Given the description of an element on the screen output the (x, y) to click on. 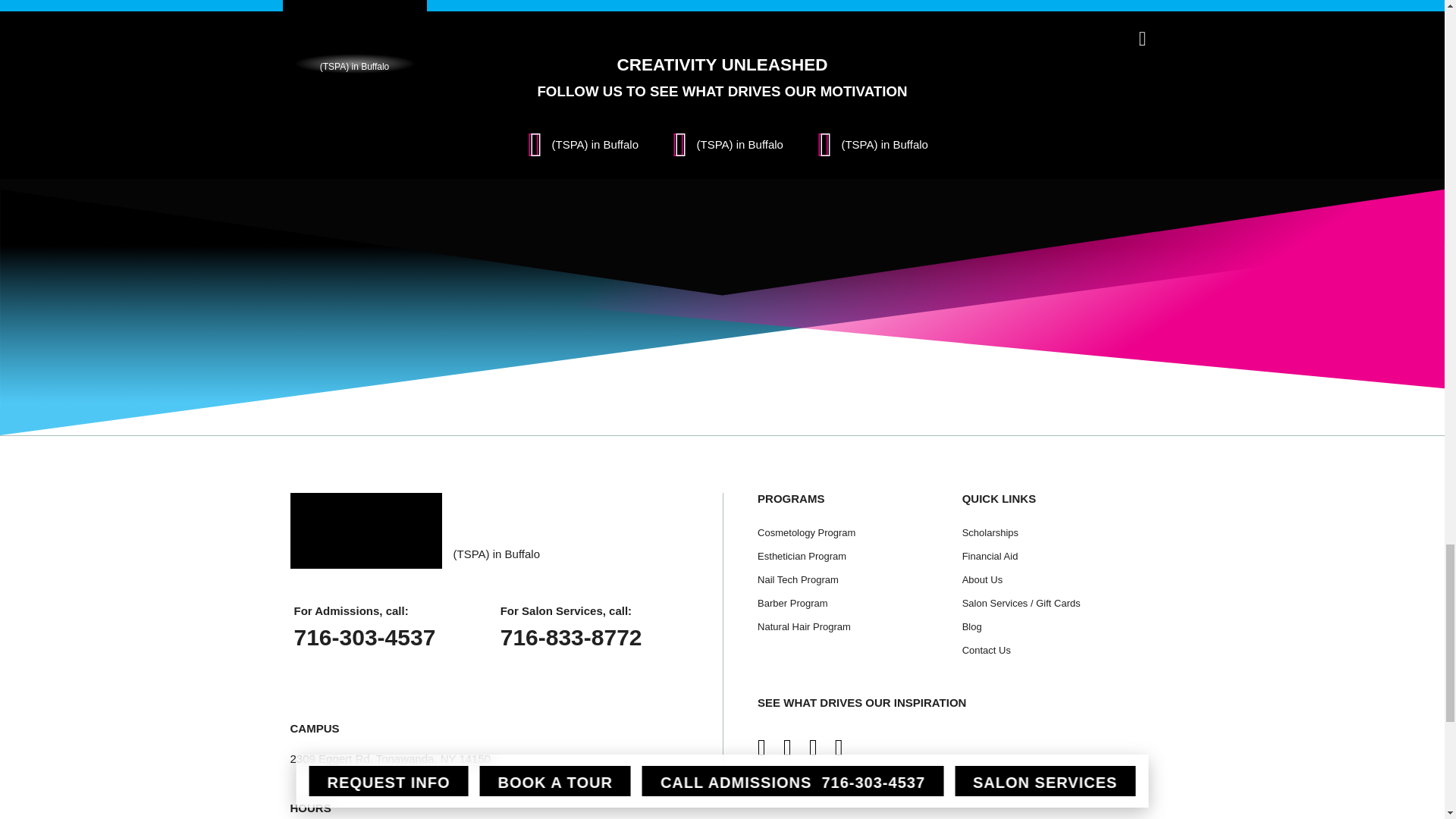
tspa social link - tiktok (867, 144)
tspa social link - facebook (722, 144)
tspa social link - instagram (577, 144)
